Given the description of an element on the screen output the (x, y) to click on. 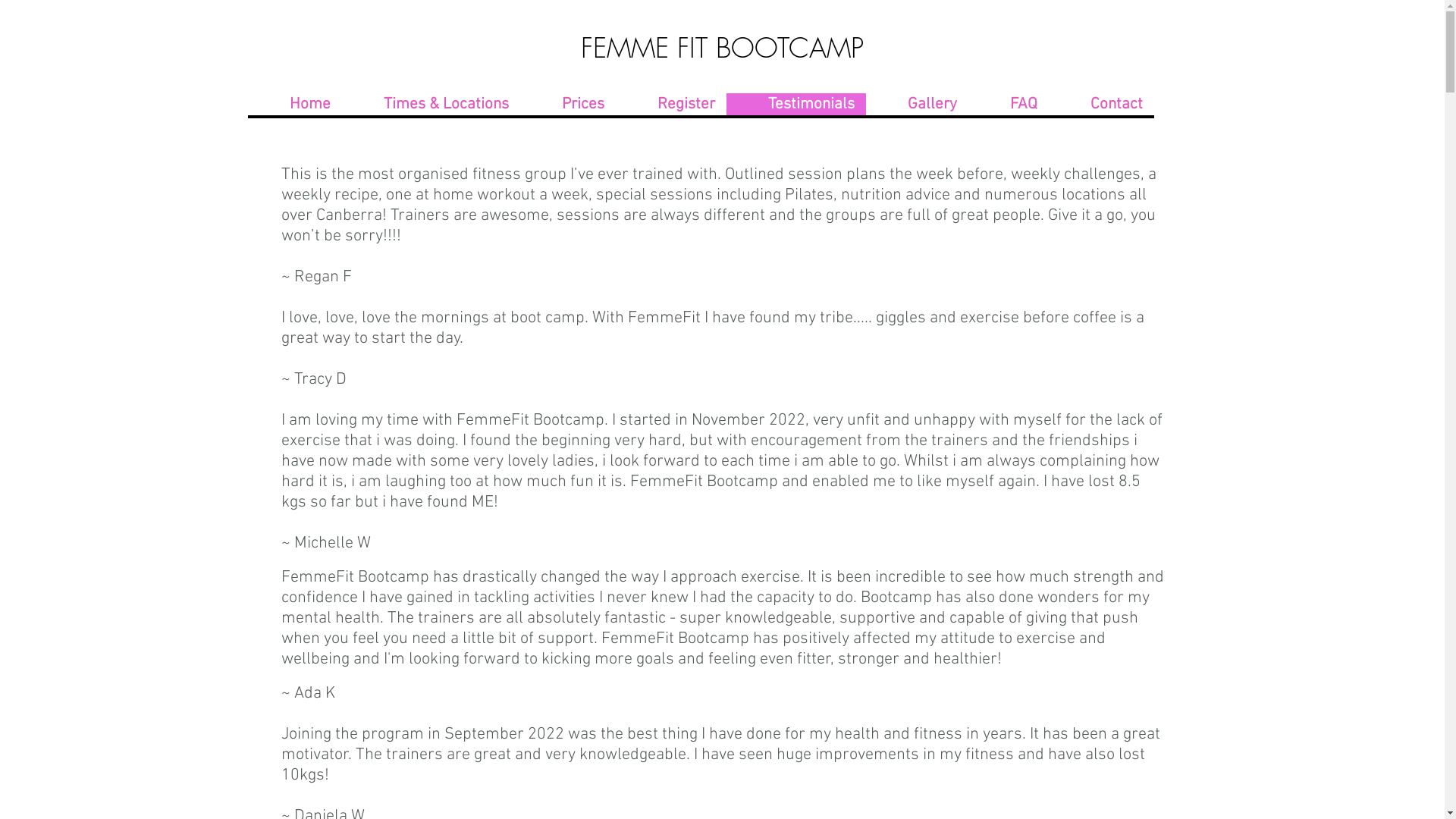
Testimonials Element type: text (796, 104)
Gallery Element type: text (917, 104)
FAQ Element type: text (1007, 104)
Contact Element type: text (1100, 104)
Prices Element type: text (567, 104)
Register Element type: text (670, 104)
Home Element type: text (294, 104)
Times & Locations Element type: text (430, 104)
